Given the description of an element on the screen output the (x, y) to click on. 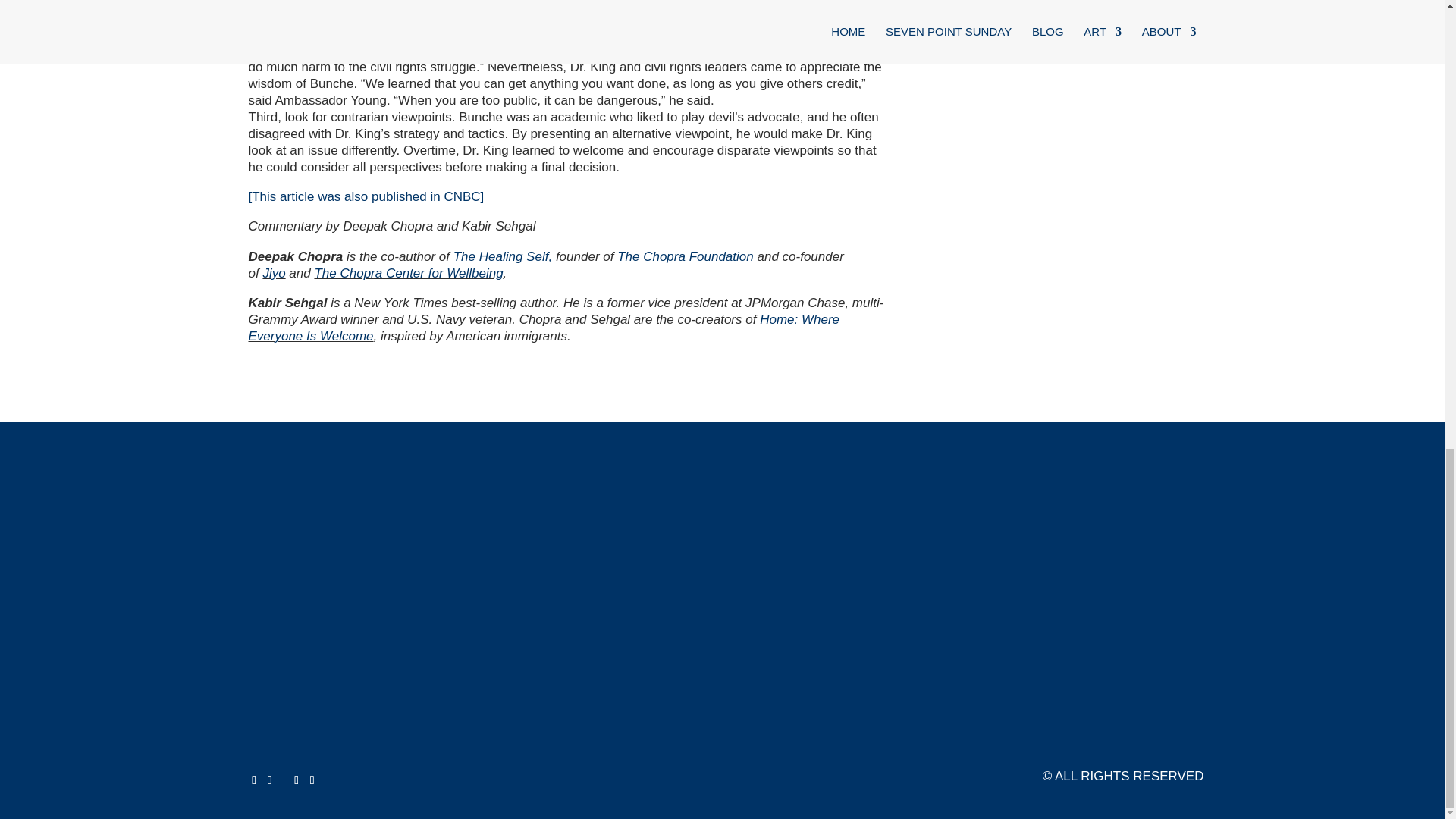
Jiyo (273, 273)
The Chopra Foundation (685, 256)
The Healing Self, (501, 256)
said (386, 50)
Home: Where Everyone Is Welcome (544, 327)
The Chopra Center for Wellbeing (408, 273)
